Given the description of an element on the screen output the (x, y) to click on. 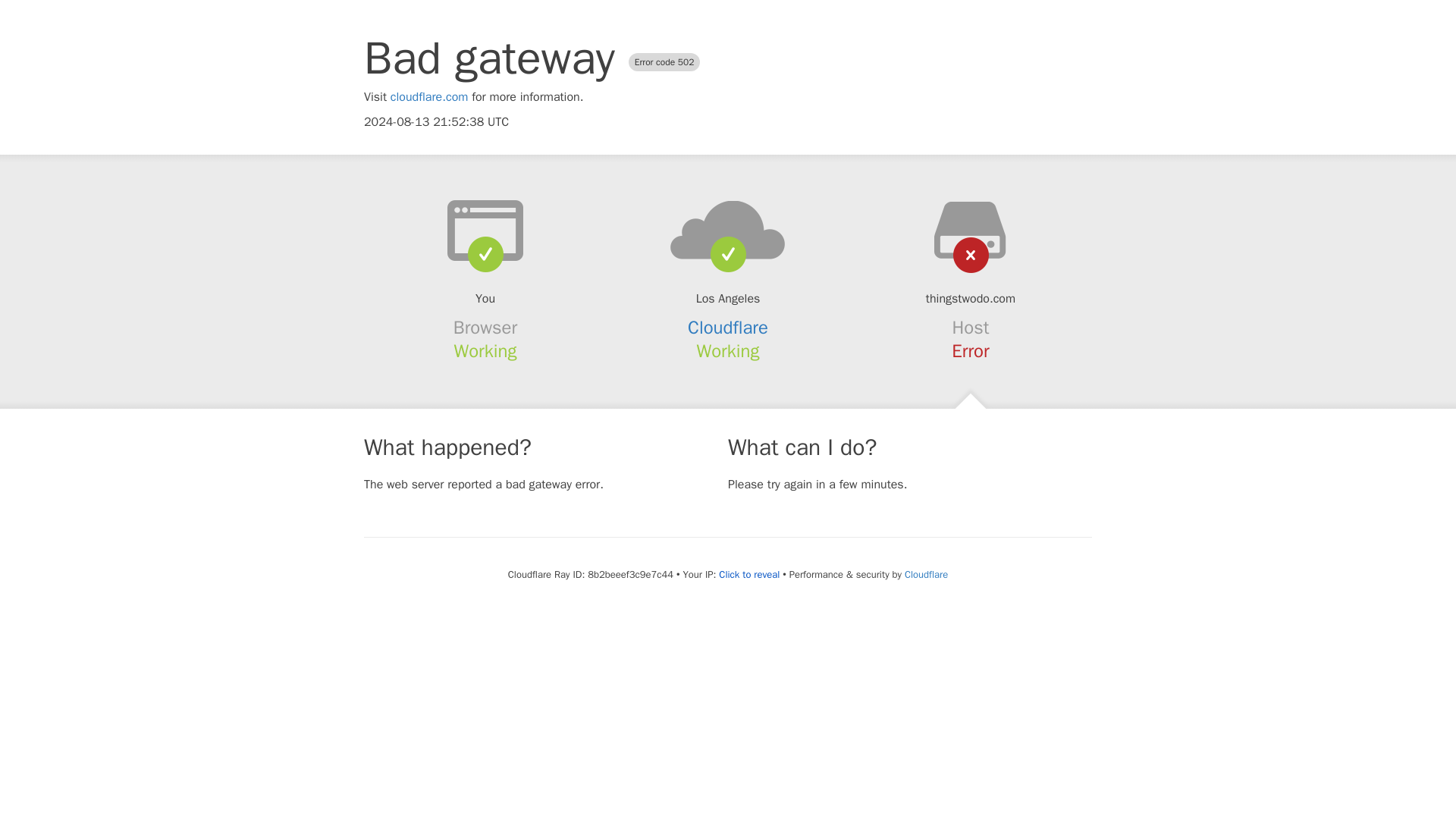
cloudflare.com (429, 96)
Click to reveal (748, 574)
Cloudflare (925, 574)
Cloudflare (727, 327)
